Given the description of an element on the screen output the (x, y) to click on. 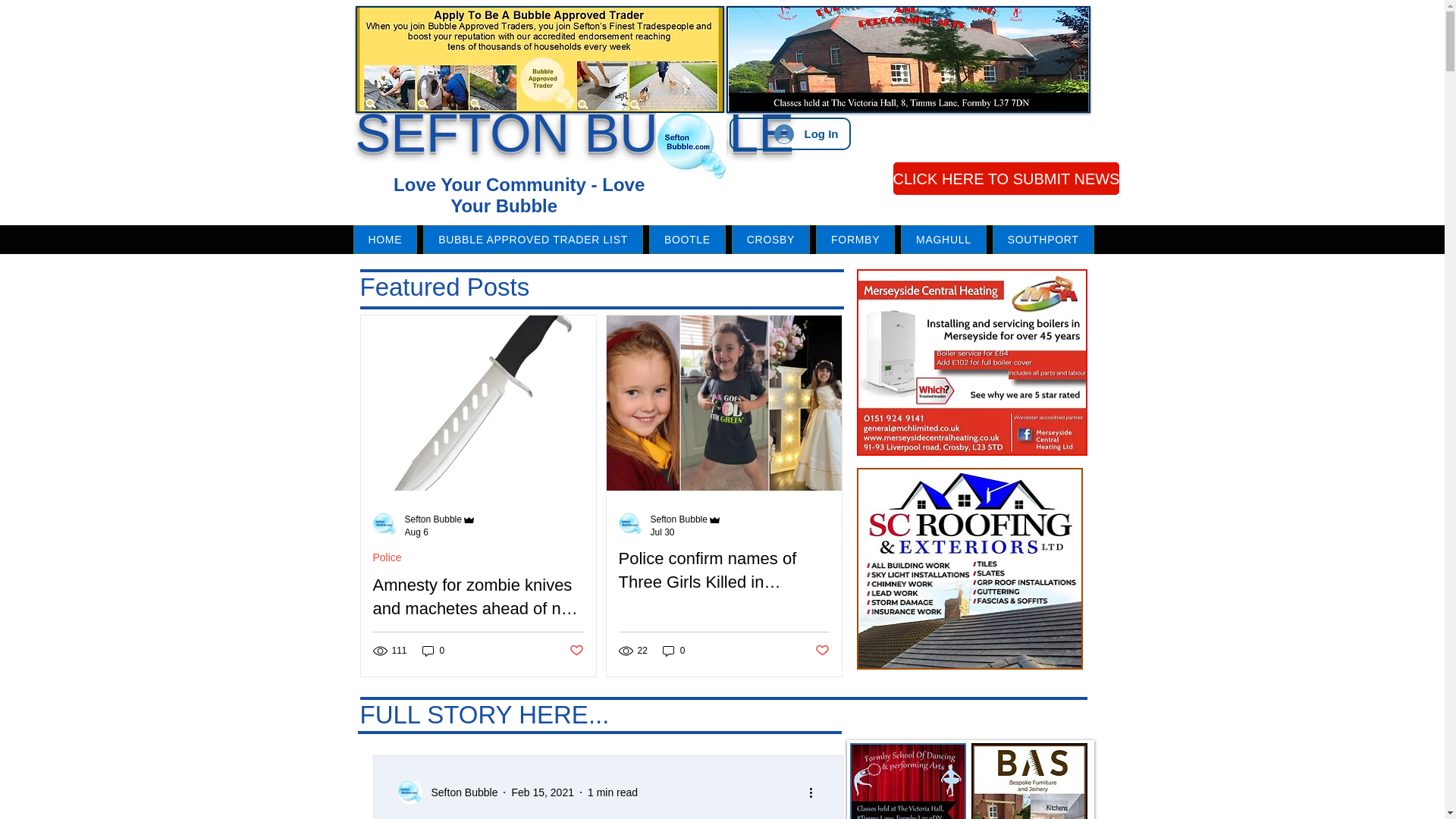
SOUTHPORT (1043, 239)
0 (674, 650)
CROSBY (770, 239)
SEFTON BUBBLE (574, 133)
 Love Your Community - Love Your Bubble (516, 195)
Feb 15, 2021 (542, 791)
HOME (385, 239)
Sefton Bubble (678, 519)
MAGHULL (944, 239)
Post not marked as liked (820, 650)
